Given the description of an element on the screen output the (x, y) to click on. 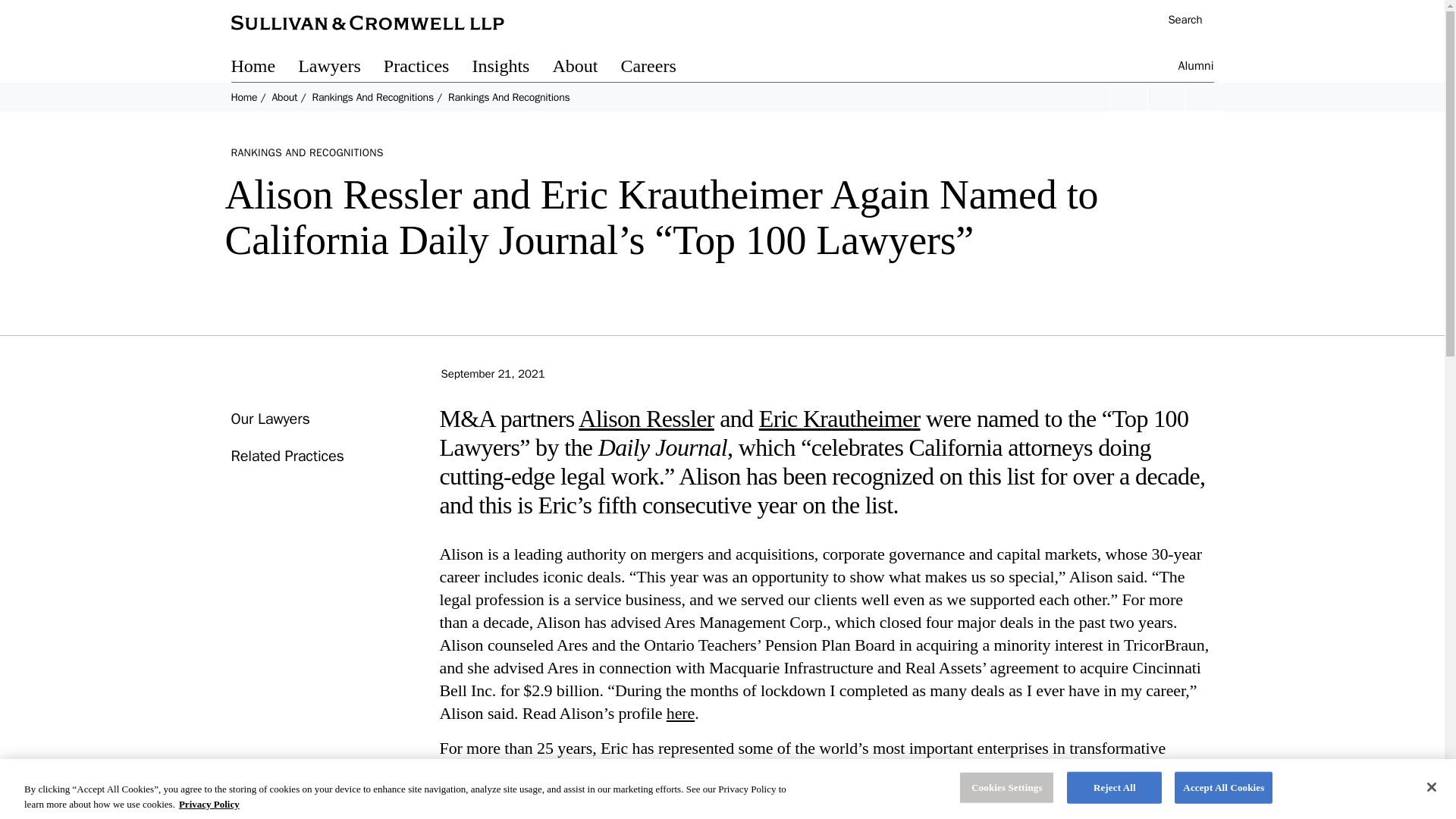
Home (243, 97)
Alumni (1195, 67)
Our Lawyers (269, 418)
Related Practices (286, 456)
Careers (659, 67)
Rankings And Recognitions (372, 97)
Home (264, 67)
Search (1176, 20)
About (585, 67)
About (283, 97)
Alison Ressler (646, 418)
Eric Krautheimer (839, 418)
Insights (511, 67)
Lawyers (341, 67)
here (680, 712)
